Given the description of an element on the screen output the (x, y) to click on. 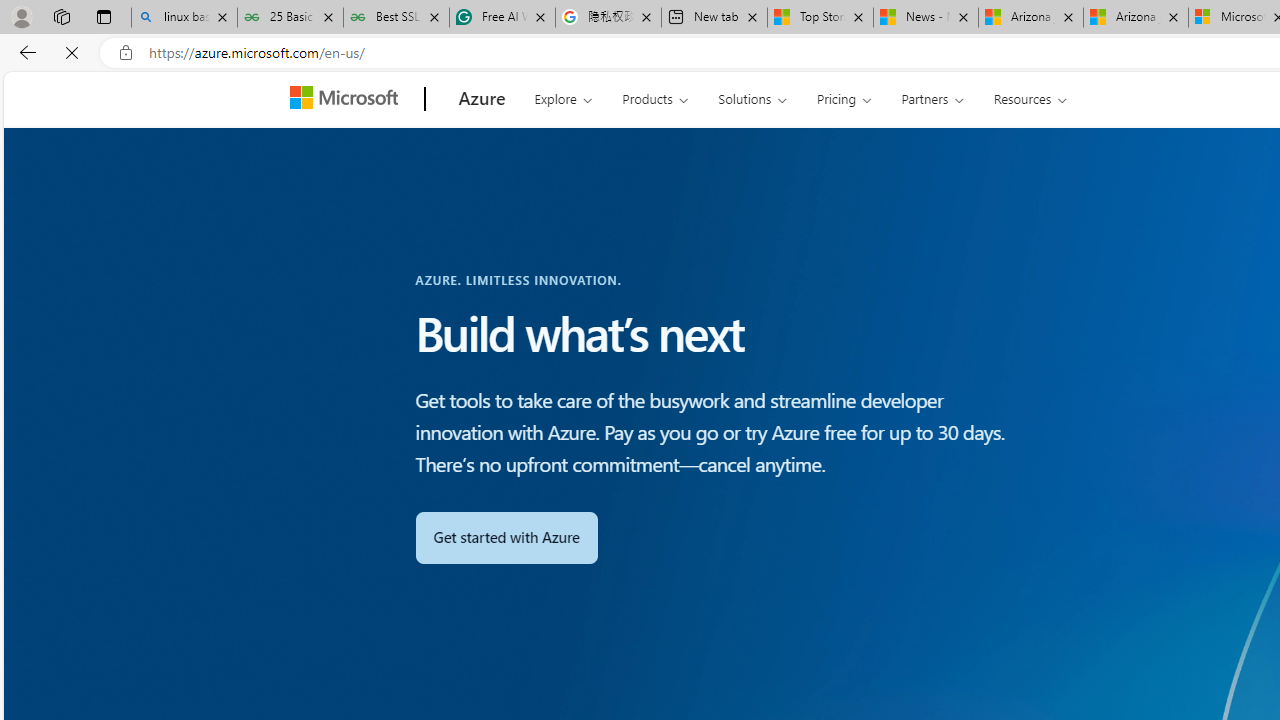
25 Basic Linux Commands For Beginners - GeeksforGeeks (290, 17)
Free AI Writing Assistance for Students | Grammarly (502, 17)
